Given the description of an element on the screen output the (x, y) to click on. 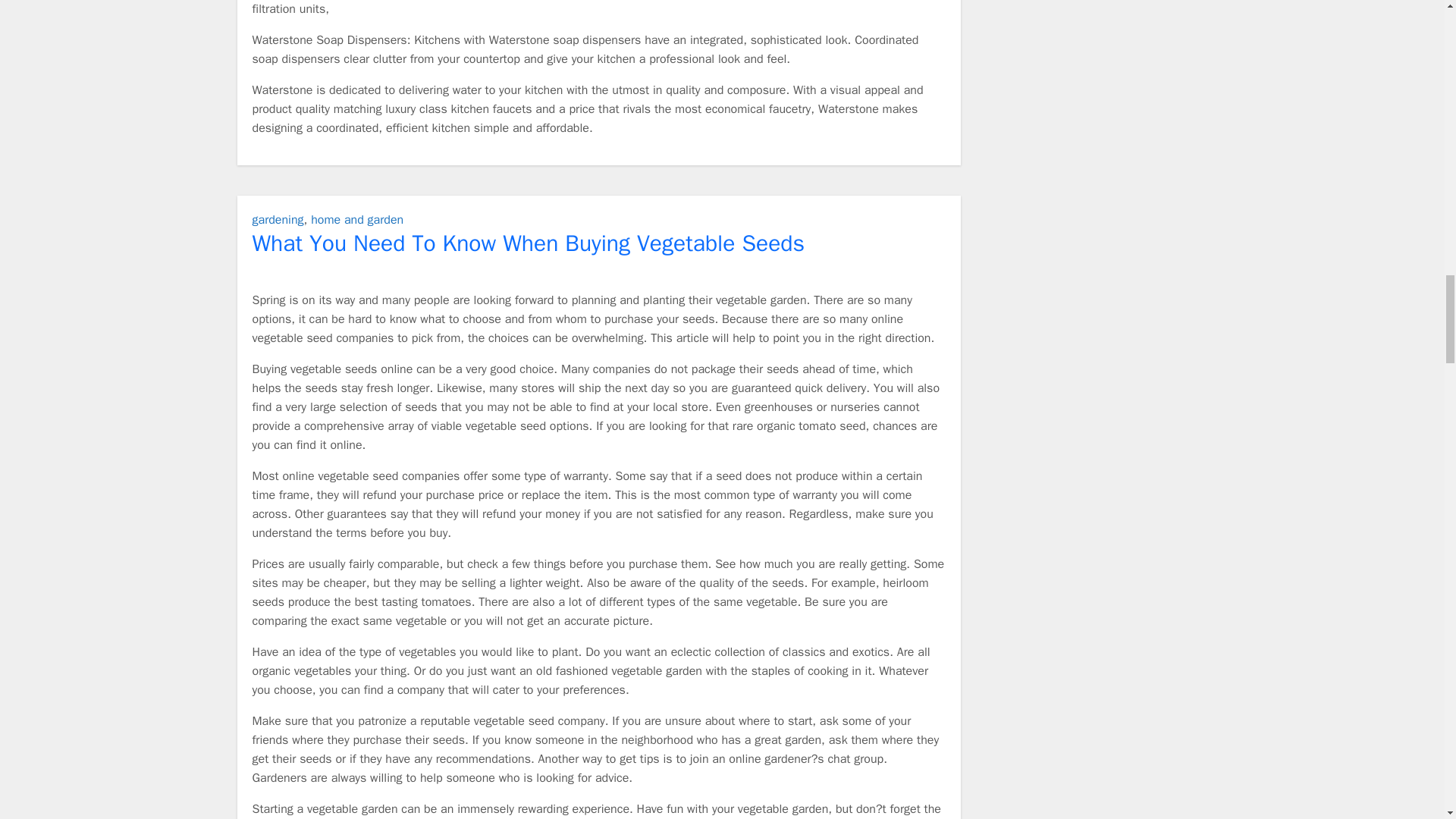
gardening (276, 219)
home and garden (357, 219)
What You Need To Know When Buying Vegetable Seeds (528, 243)
